Given the description of an element on the screen output the (x, y) to click on. 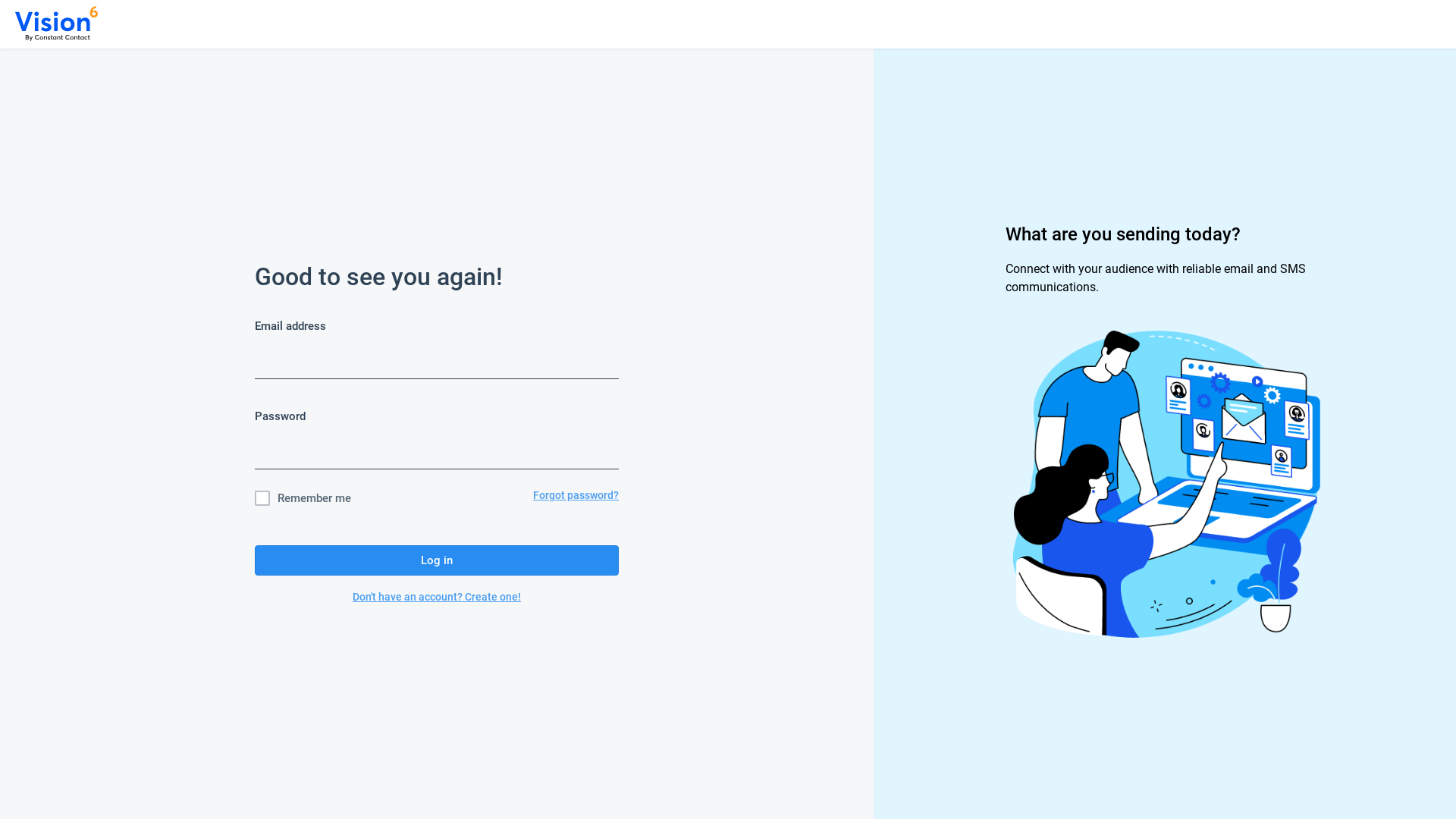
Forgot password? Element type: text (575, 498)
Don't have an account? Create one! Element type: text (436, 596)
Log in Element type: text (436, 560)
